Given the description of an element on the screen output the (x, y) to click on. 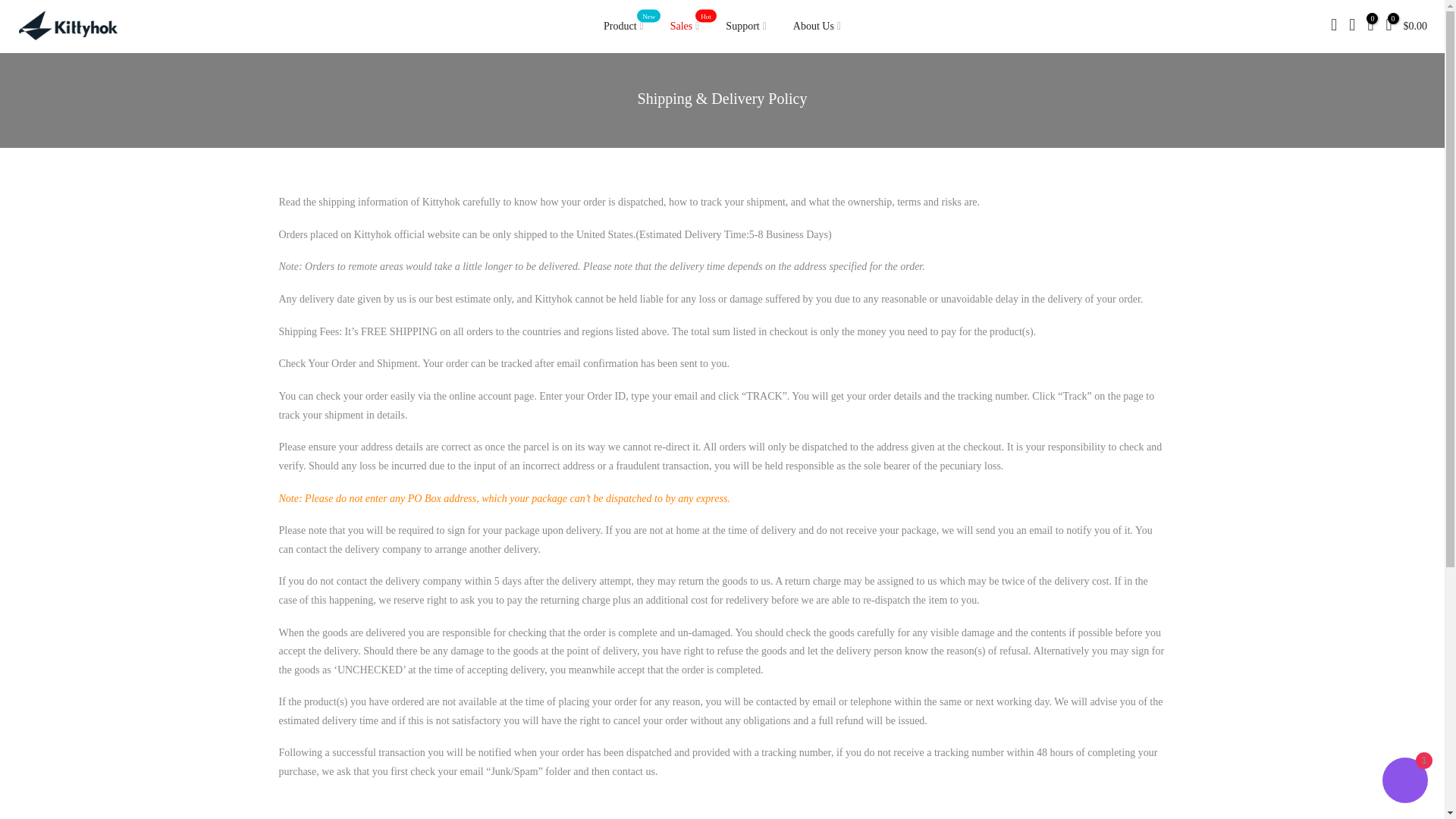
Support (684, 26)
About Us (745, 26)
0 (815, 26)
Shopify online store chat (622, 26)
